Given the description of an element on the screen output the (x, y) to click on. 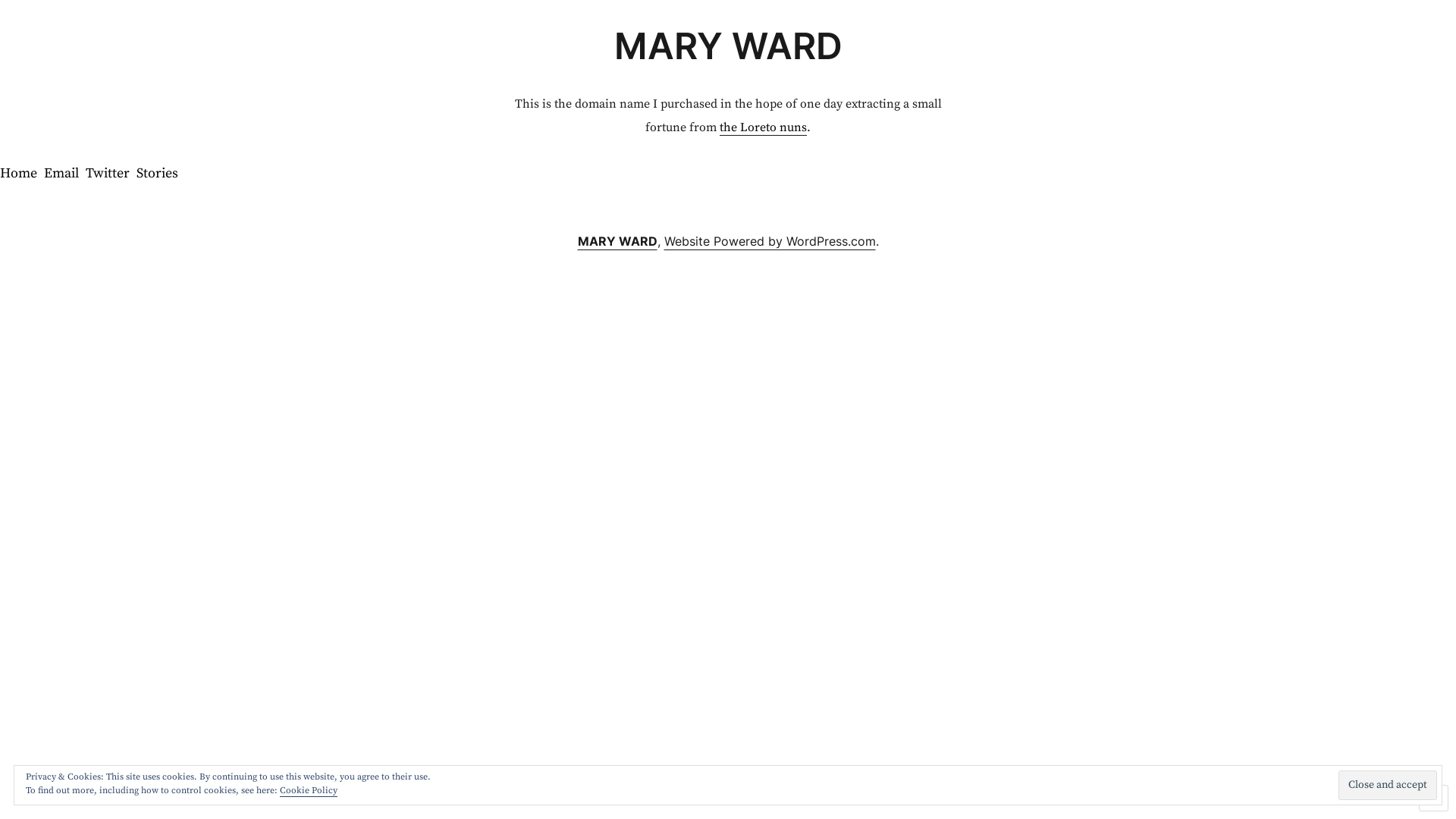
Email Element type: text (60, 174)
Twitter Element type: text (107, 174)
Close and accept Element type: text (1387, 785)
Home Element type: text (18, 174)
Website Powered by WordPress.com Element type: text (769, 240)
Cookie Policy Element type: text (308, 790)
Stories Element type: text (157, 174)
the Loreto nuns Element type: text (762, 126)
MARY WARD Element type: text (617, 240)
